Given the description of an element on the screen output the (x, y) to click on. 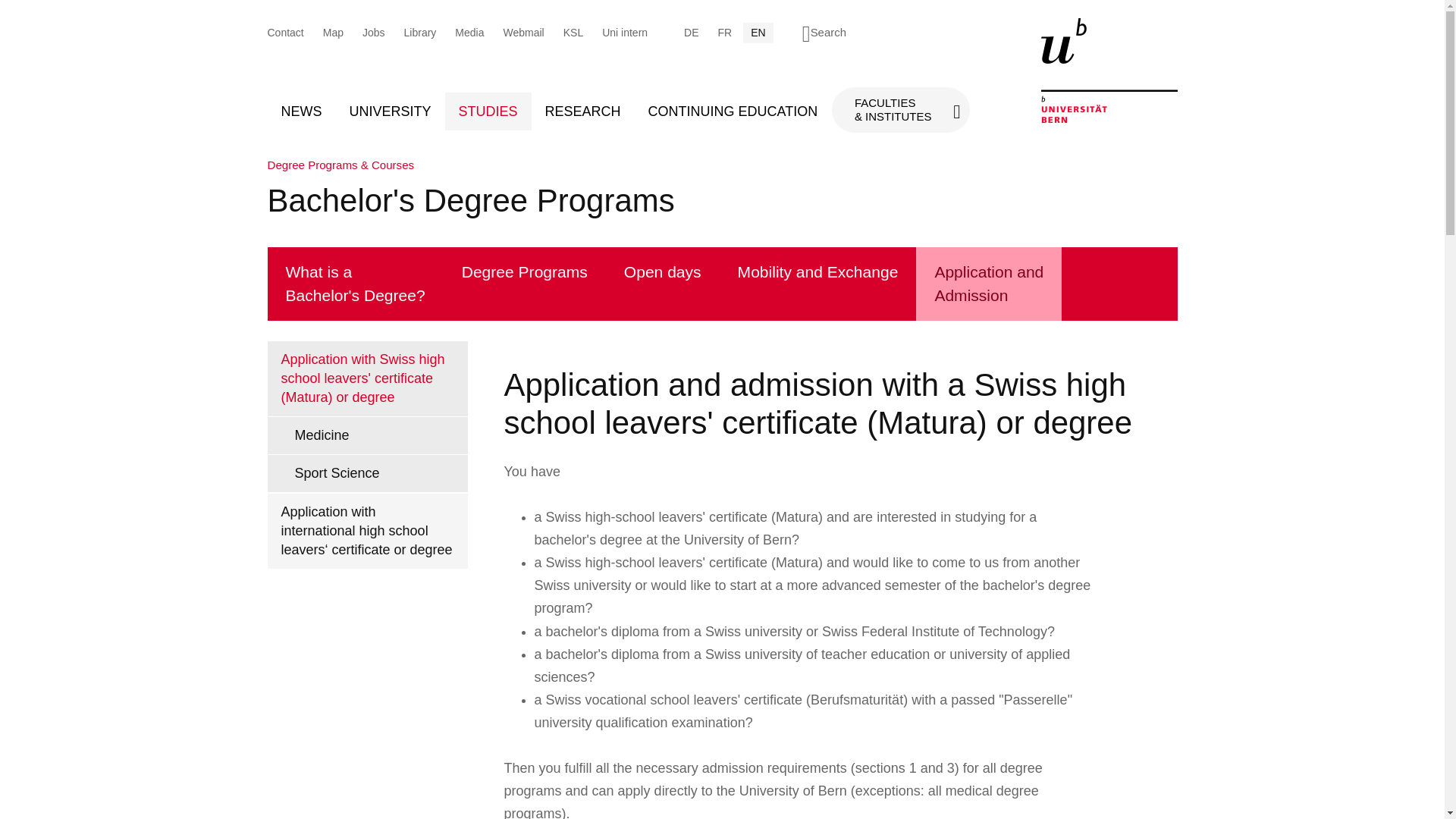
RESEARCH (582, 111)
UNIVERSITY (389, 111)
STUDIES (488, 111)
CONTINUING EDUCATION (732, 111)
NEWS (300, 111)
